Given the description of an element on the screen output the (x, y) to click on. 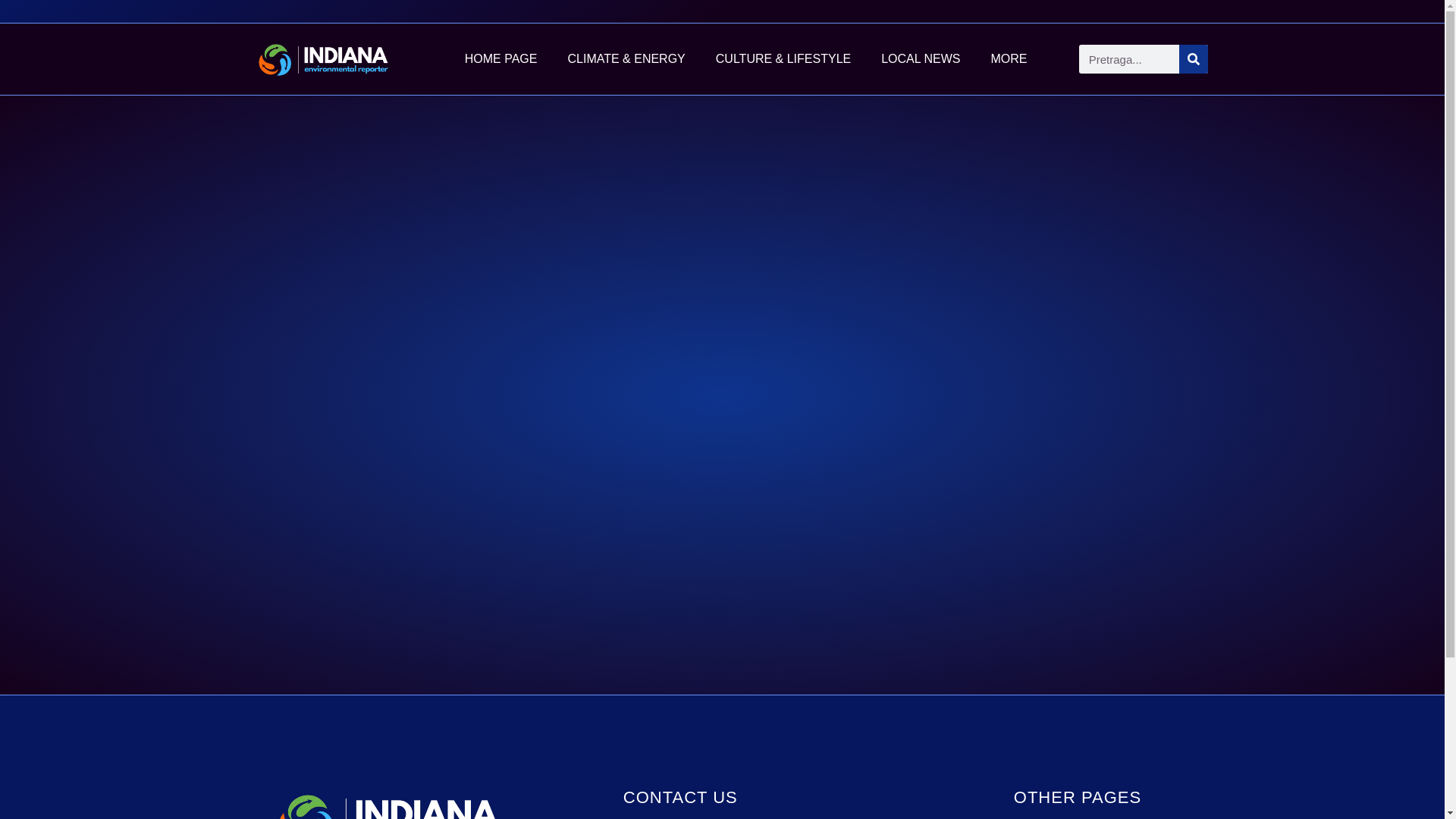
MORE (1008, 58)
Privacy Policy (1110, 816)
LOCAL NEWS (920, 58)
Email: (755, 816)
HOME PAGE (501, 58)
